Given the description of an element on the screen output the (x, y) to click on. 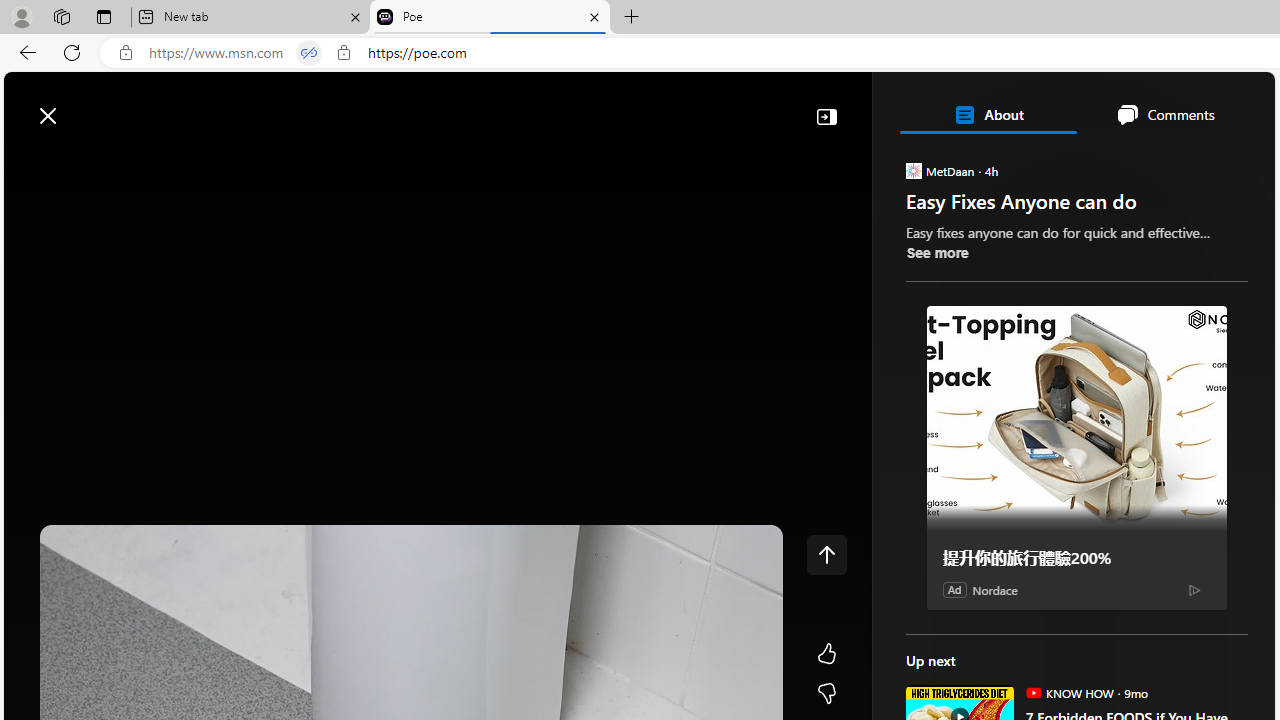
Collapse (826, 115)
